Given the description of an element on the screen output the (x, y) to click on. 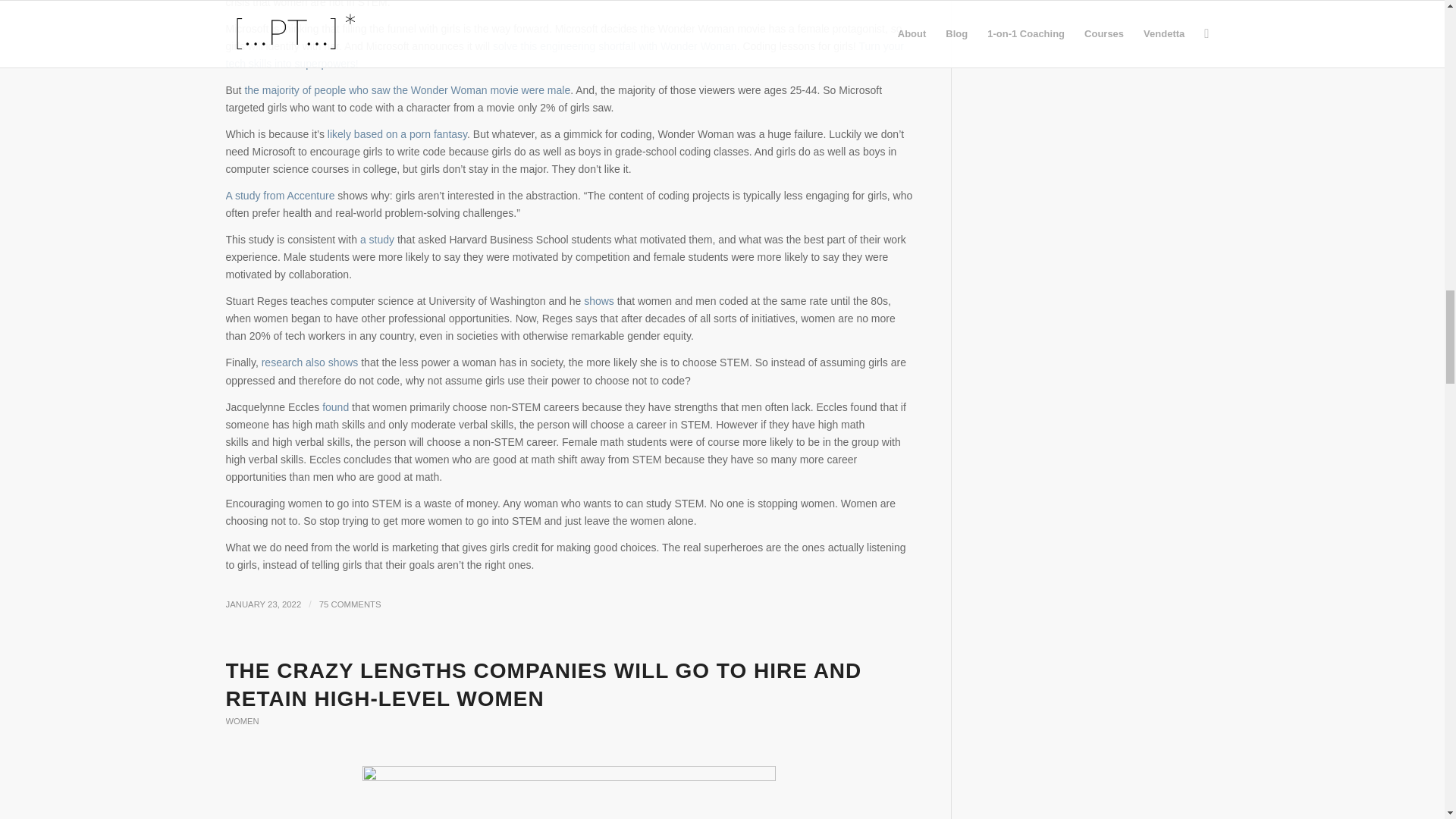
likely based on a porn fantasy (397, 133)
shows (598, 300)
Turn your tech skills into superpowers! (564, 54)
solve this engineering shortfall with Wonder Woman (614, 46)
75 COMMENTS (349, 604)
research also shows (310, 362)
found (335, 407)
A study from Accenture (279, 195)
a study (376, 239)
WOMEN (242, 720)
